Given the description of an element on the screen output the (x, y) to click on. 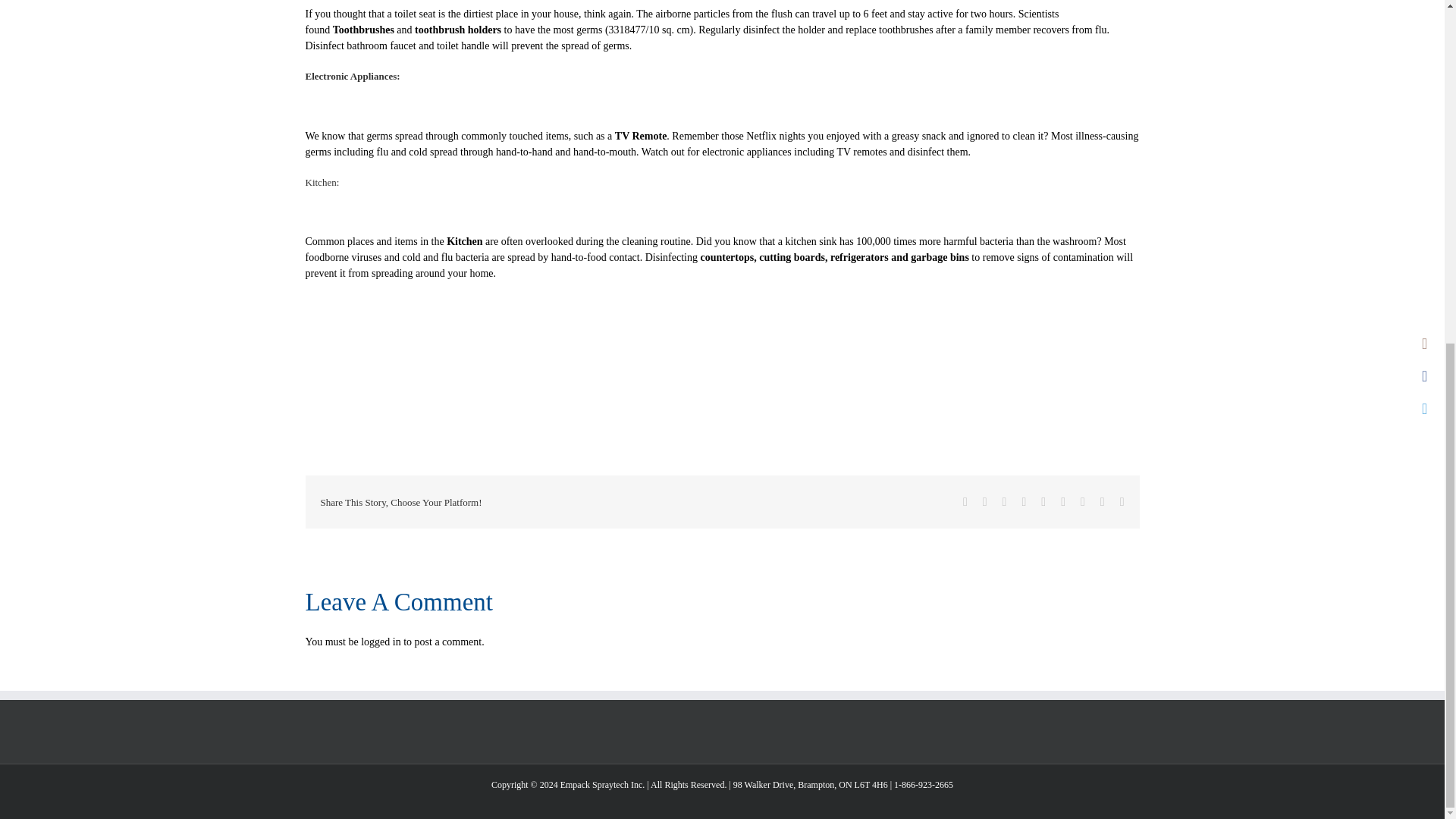
logged in (381, 641)
